Given the description of an element on the screen output the (x, y) to click on. 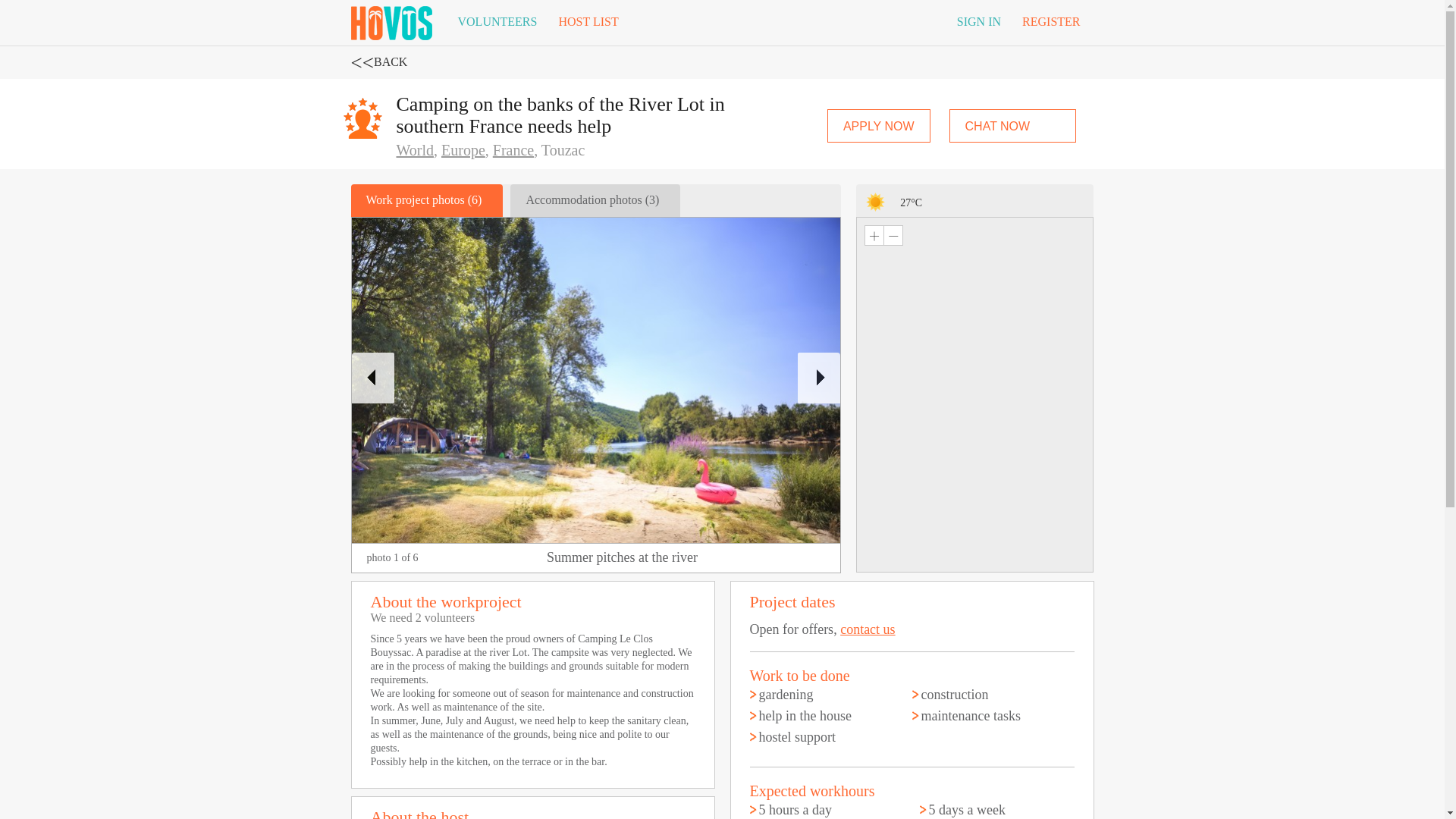
CHAT NOW (1013, 125)
REGISTER (1050, 22)
VOLUNTEERS (497, 22)
France (513, 149)
World (414, 149)
SIGN IN (978, 22)
HOST LIST (587, 22)
Europe (462, 149)
Hovos (390, 20)
APPLY NOW (878, 125)
